Given the description of an element on the screen output the (x, y) to click on. 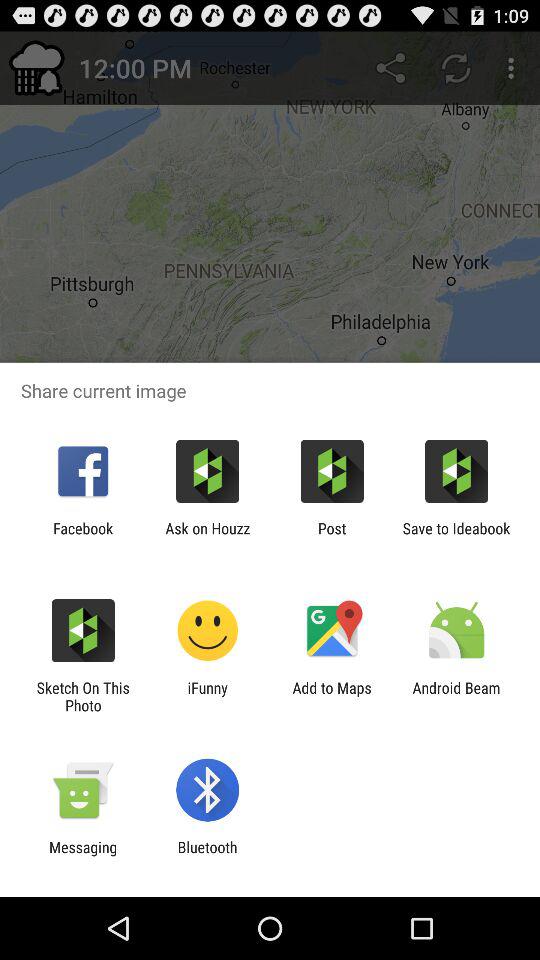
tap item to the right of post app (456, 537)
